Given the description of an element on the screen output the (x, y) to click on. 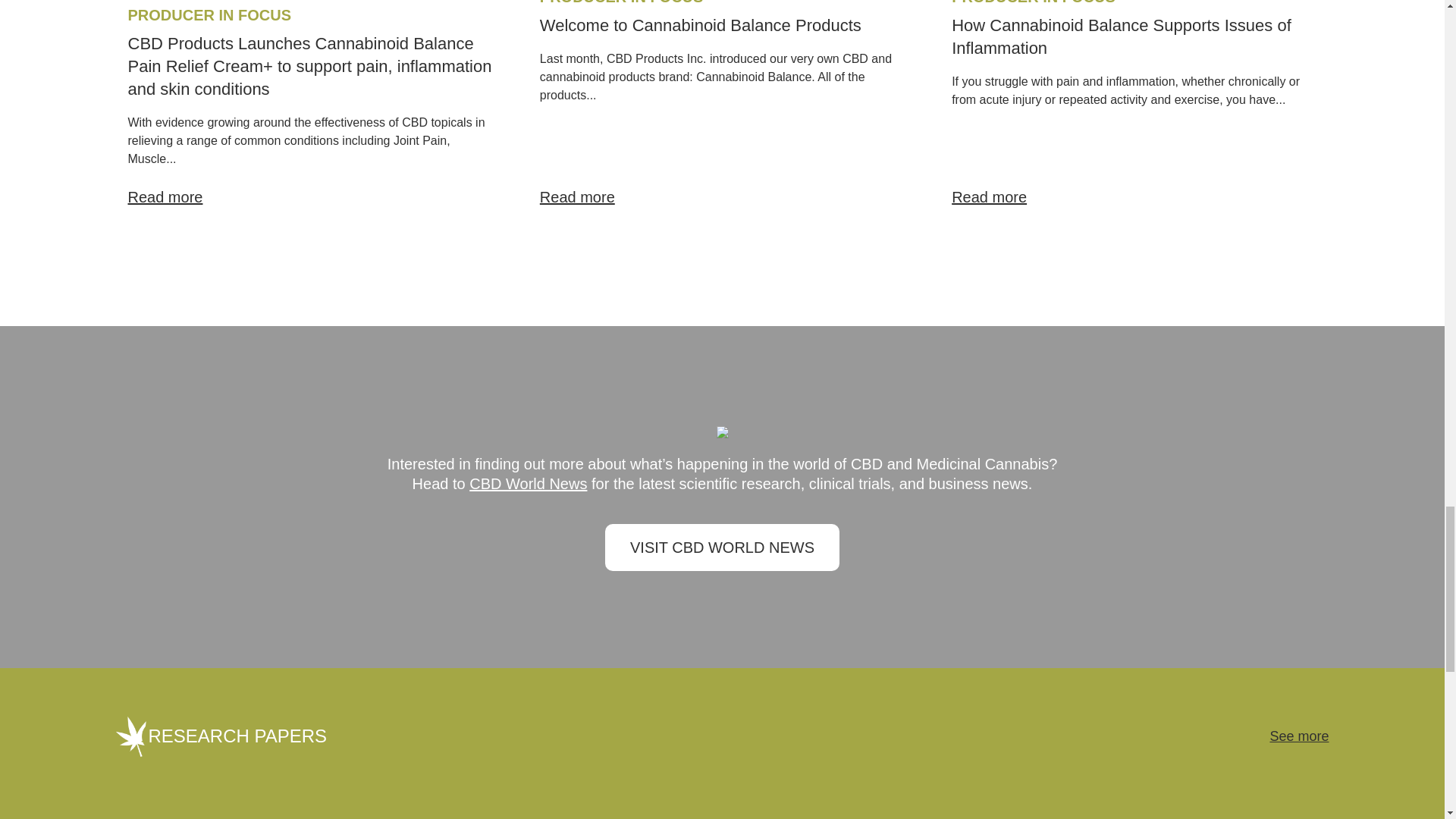
How Cannabinoid Balance Supports Issues of Inflammation (1121, 36)
PRODUCER IN FOCUS (1033, 2)
PRODUCER IN FOCUS (621, 2)
Read more (310, 197)
PRODUCER IN FOCUS (209, 14)
Read more (722, 197)
Read more (1134, 197)
Welcome to Cannabinoid Balance Products (700, 25)
